Given the description of an element on the screen output the (x, y) to click on. 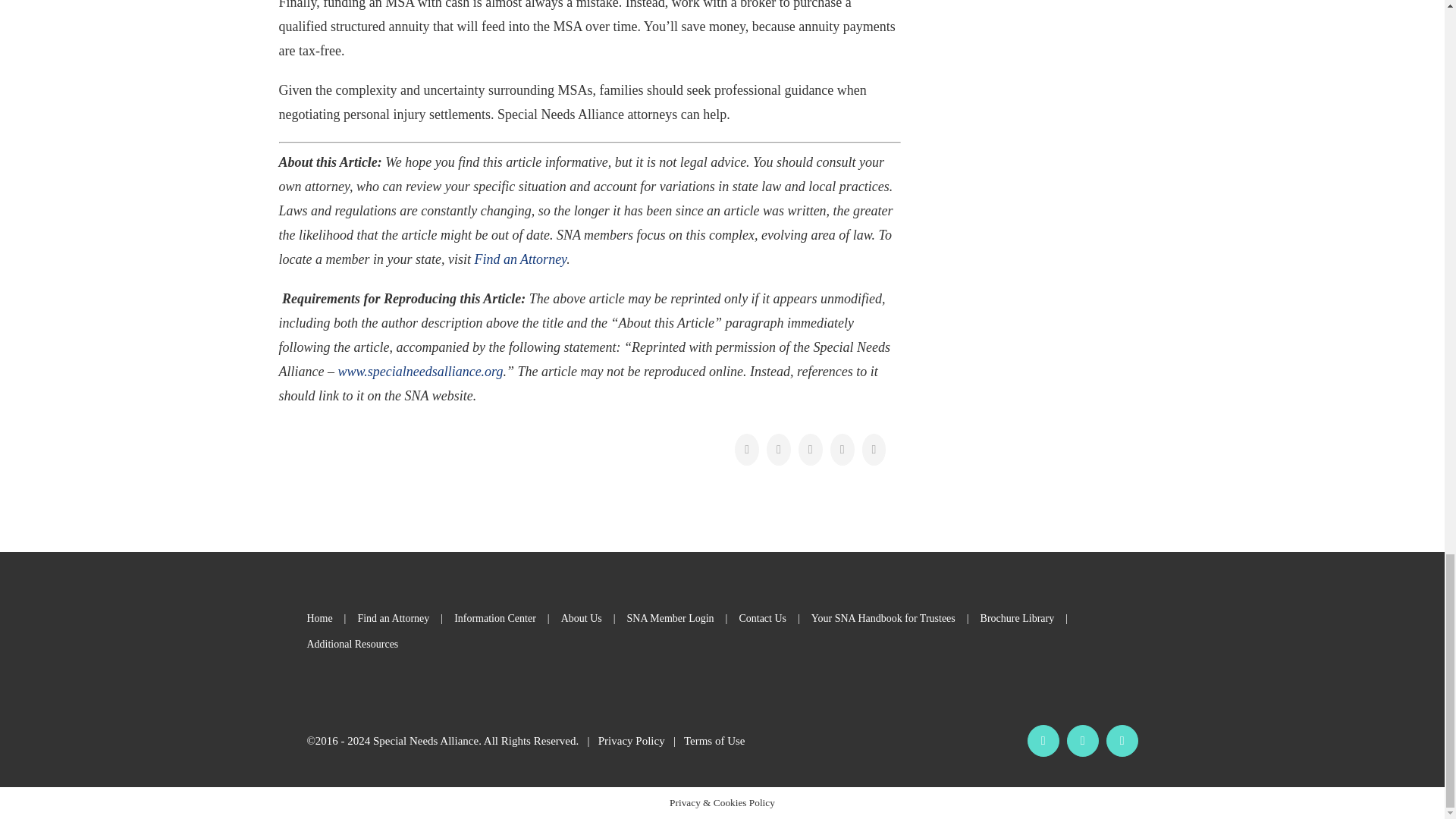
Facebook (1043, 740)
LinkedIn (1083, 740)
X (1122, 740)
